Given the description of an element on the screen output the (x, y) to click on. 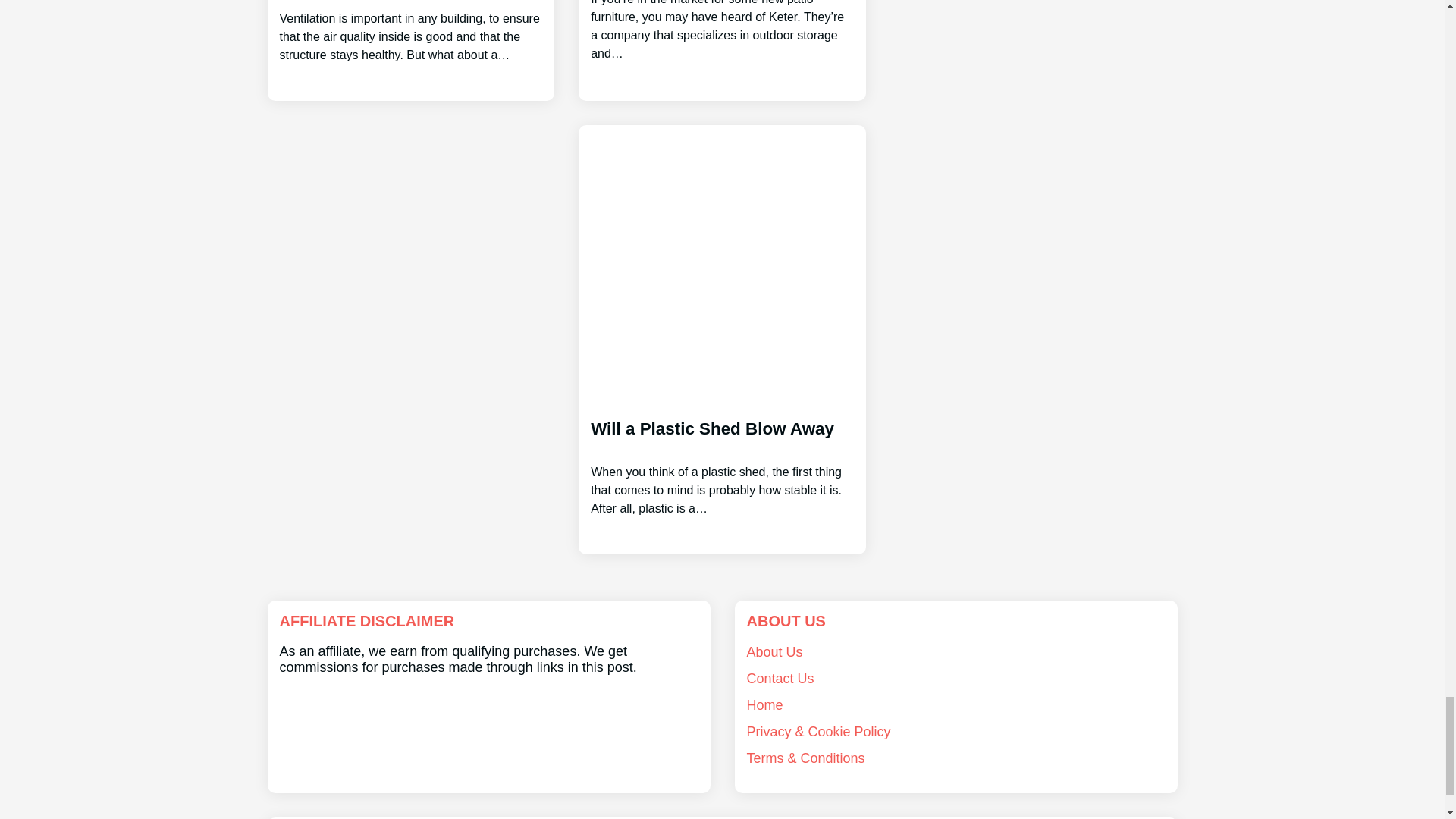
Does a Shed Need Ventilation Underneath (410, 32)
Will a Plastic Shed Blow Away (722, 455)
Is Keter a Good Brand (722, 31)
